Given the description of an element on the screen output the (x, y) to click on. 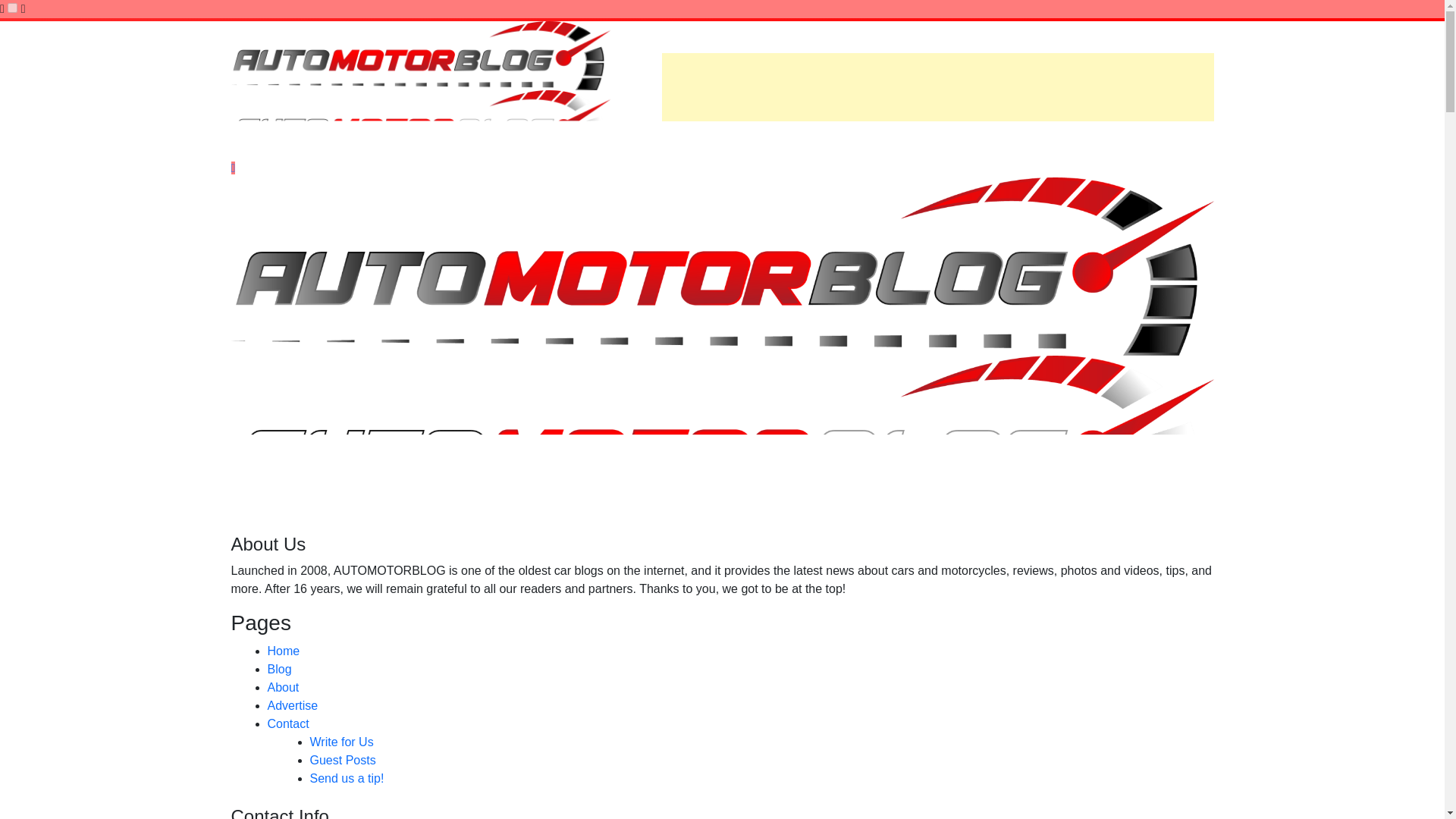
on (12, 8)
About (282, 686)
Contact (287, 723)
Guest Posts (341, 759)
Send us a tip! (346, 778)
Write for Us (340, 741)
Home (282, 650)
Advertise (291, 705)
Blog (278, 668)
